Given the description of an element on the screen output the (x, y) to click on. 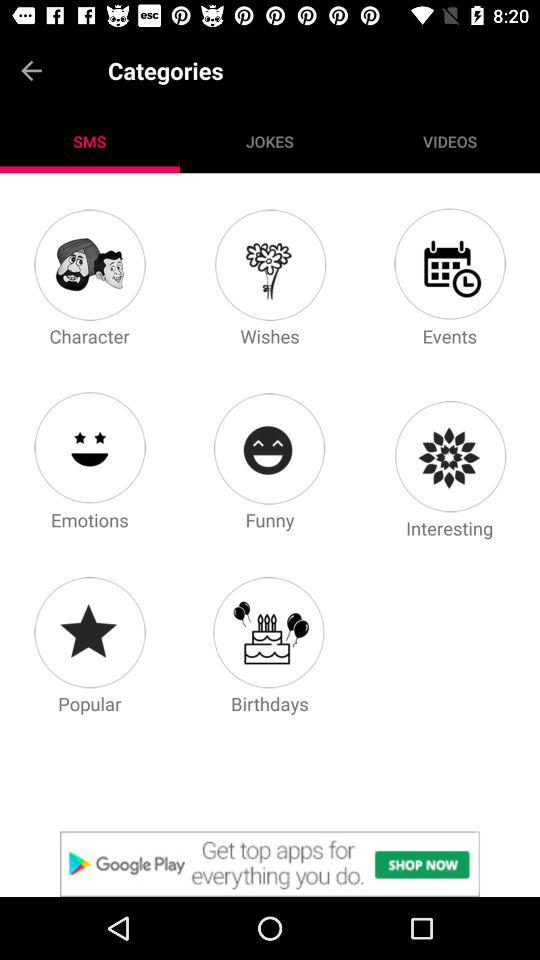
announcement (270, 864)
